Given the description of an element on the screen output the (x, y) to click on. 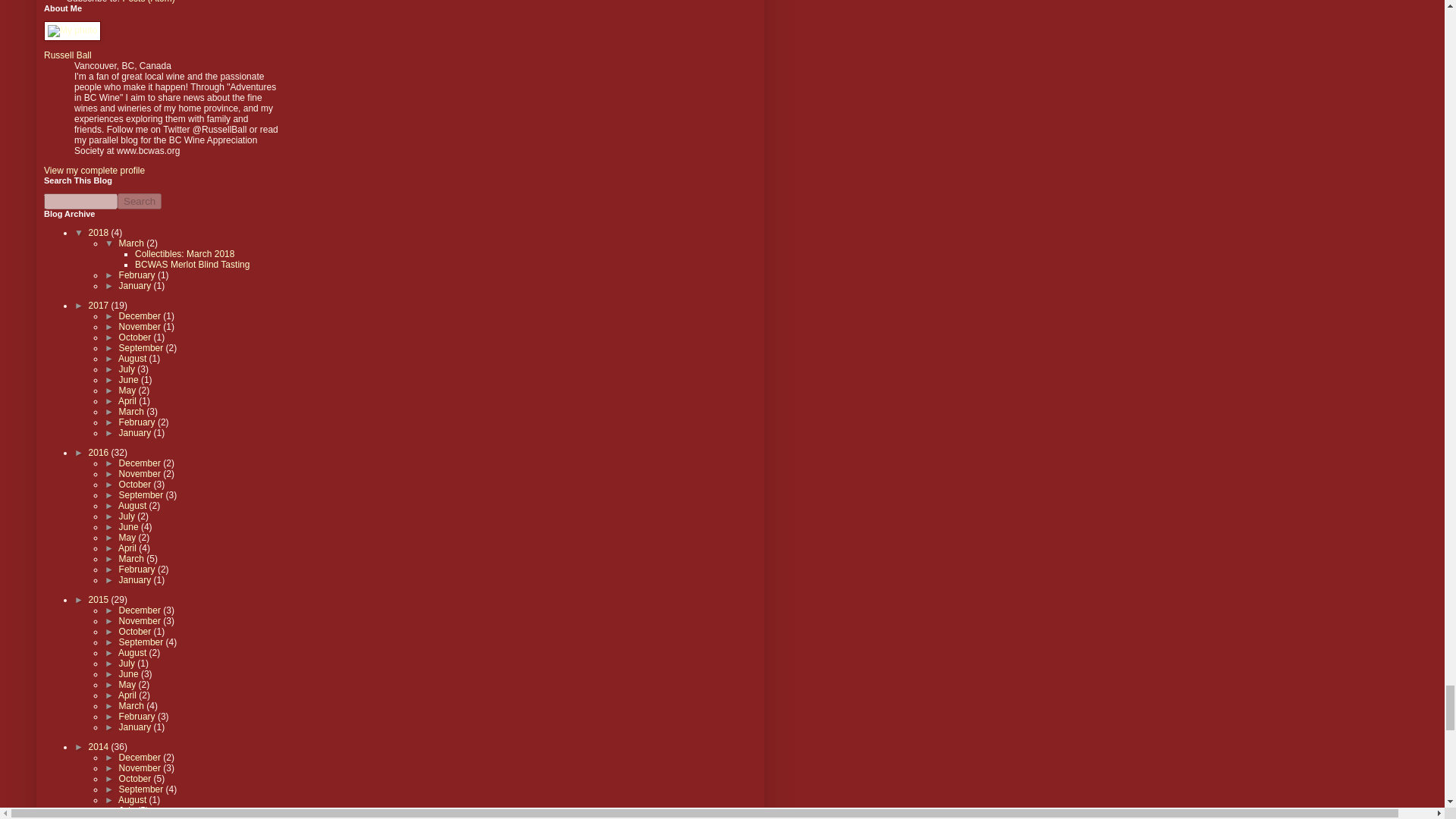
Search (139, 201)
Search (139, 201)
